Given the description of an element on the screen output the (x, y) to click on. 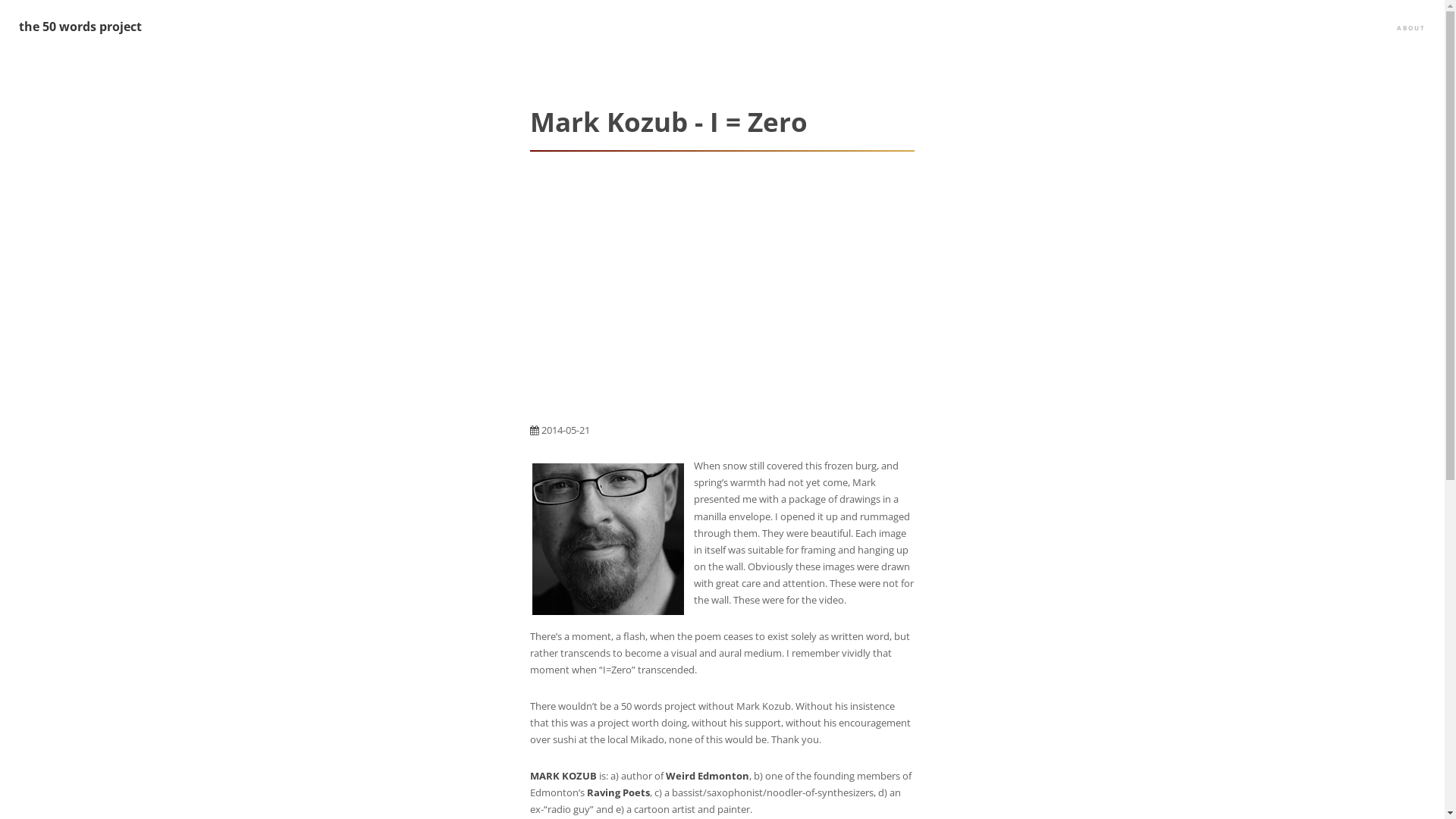
the 50 words project Element type: text (79, 26)
ABOUT Element type: text (1410, 28)
